Given the description of an element on the screen output the (x, y) to click on. 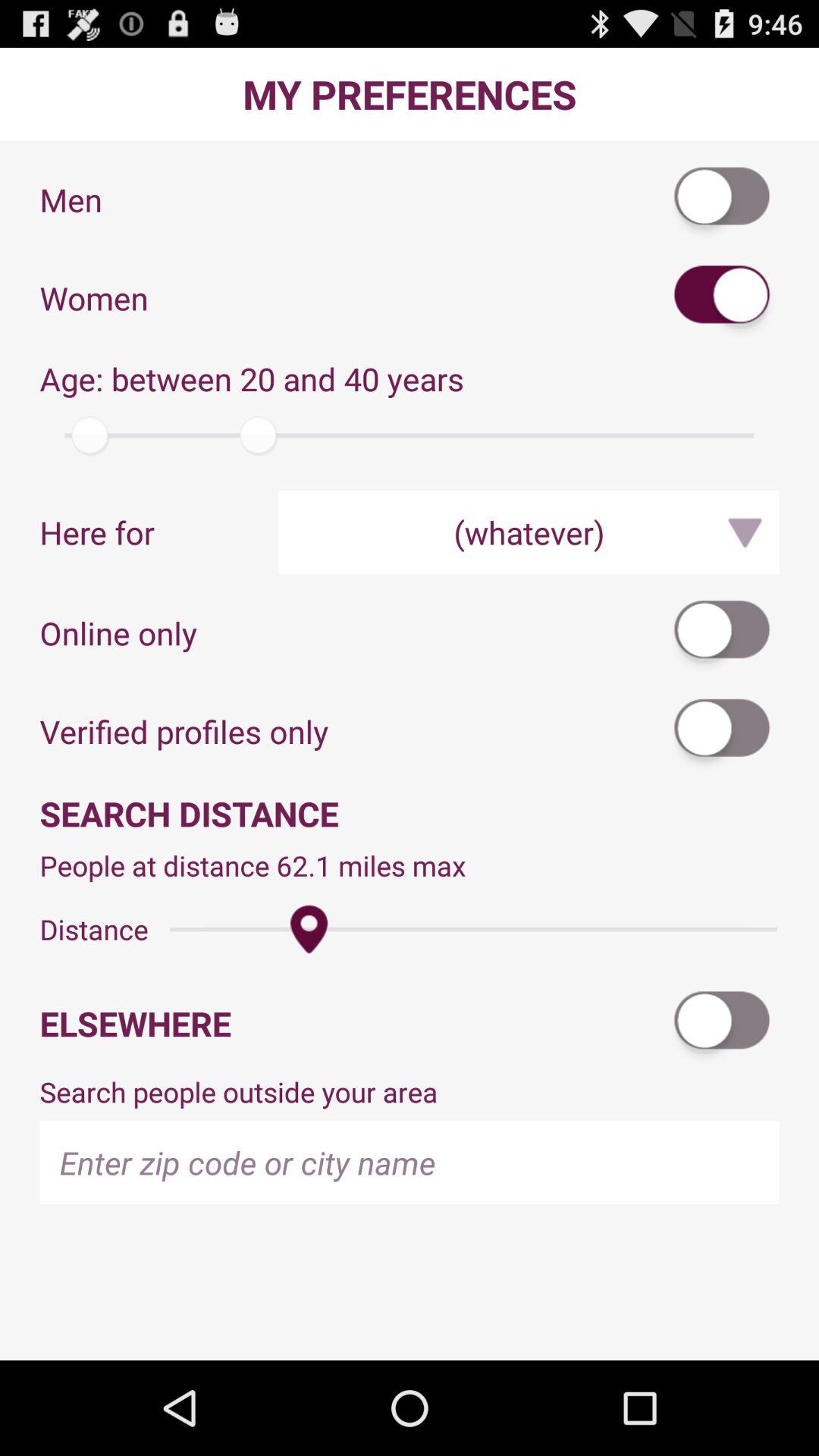
toggle gender option (722, 297)
